Given the description of an element on the screen output the (x, y) to click on. 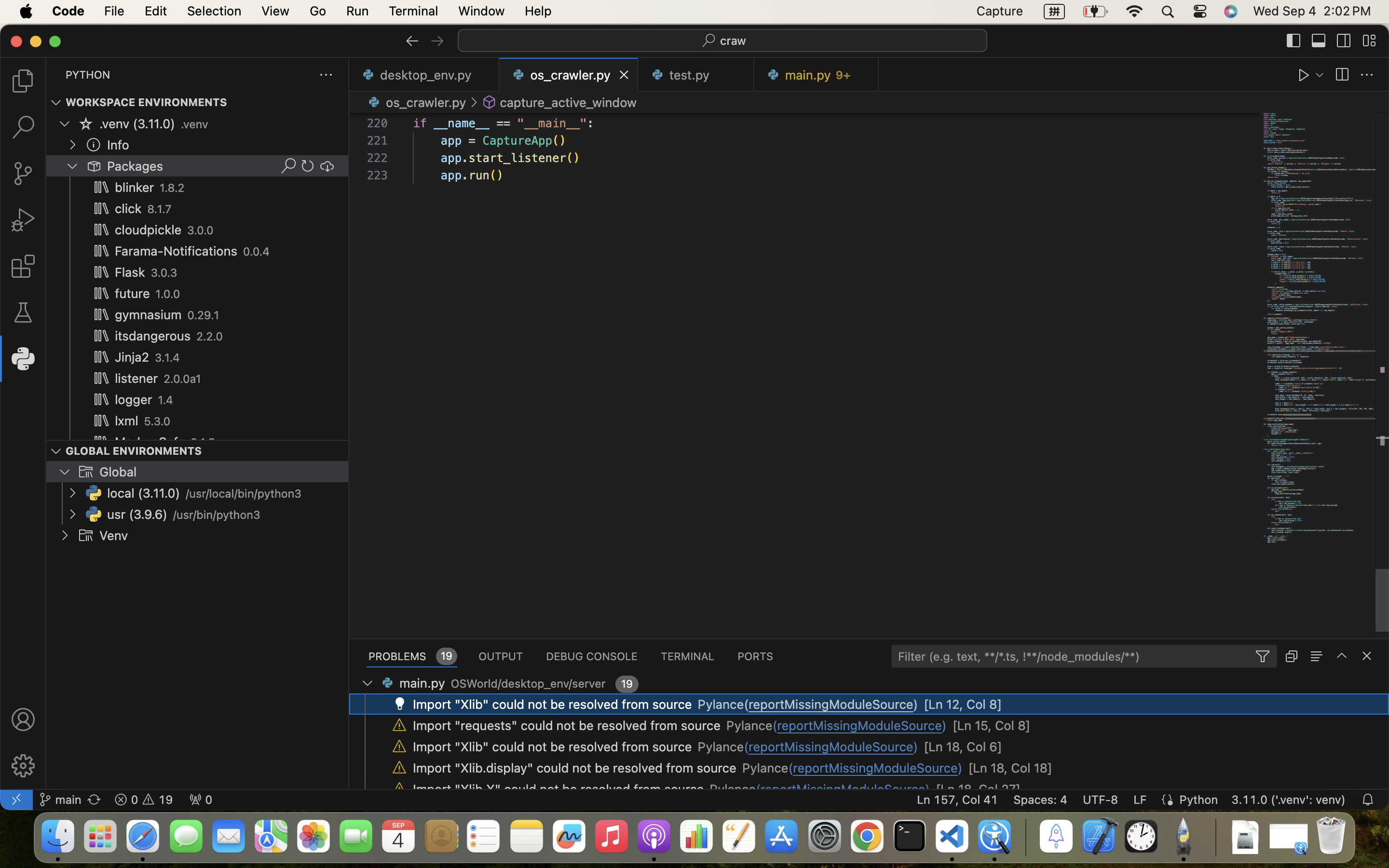
 Element type: AXCheckBox (1318, 40)
1.8.2 Element type: AXStaticText (172, 187)
 Element type: AXGroup (23, 719)
 Element type: AXButton (326, 165)
1 os_crawler.py   Element type: AXRadioButton (568, 74)
